Given the description of an element on the screen output the (x, y) to click on. 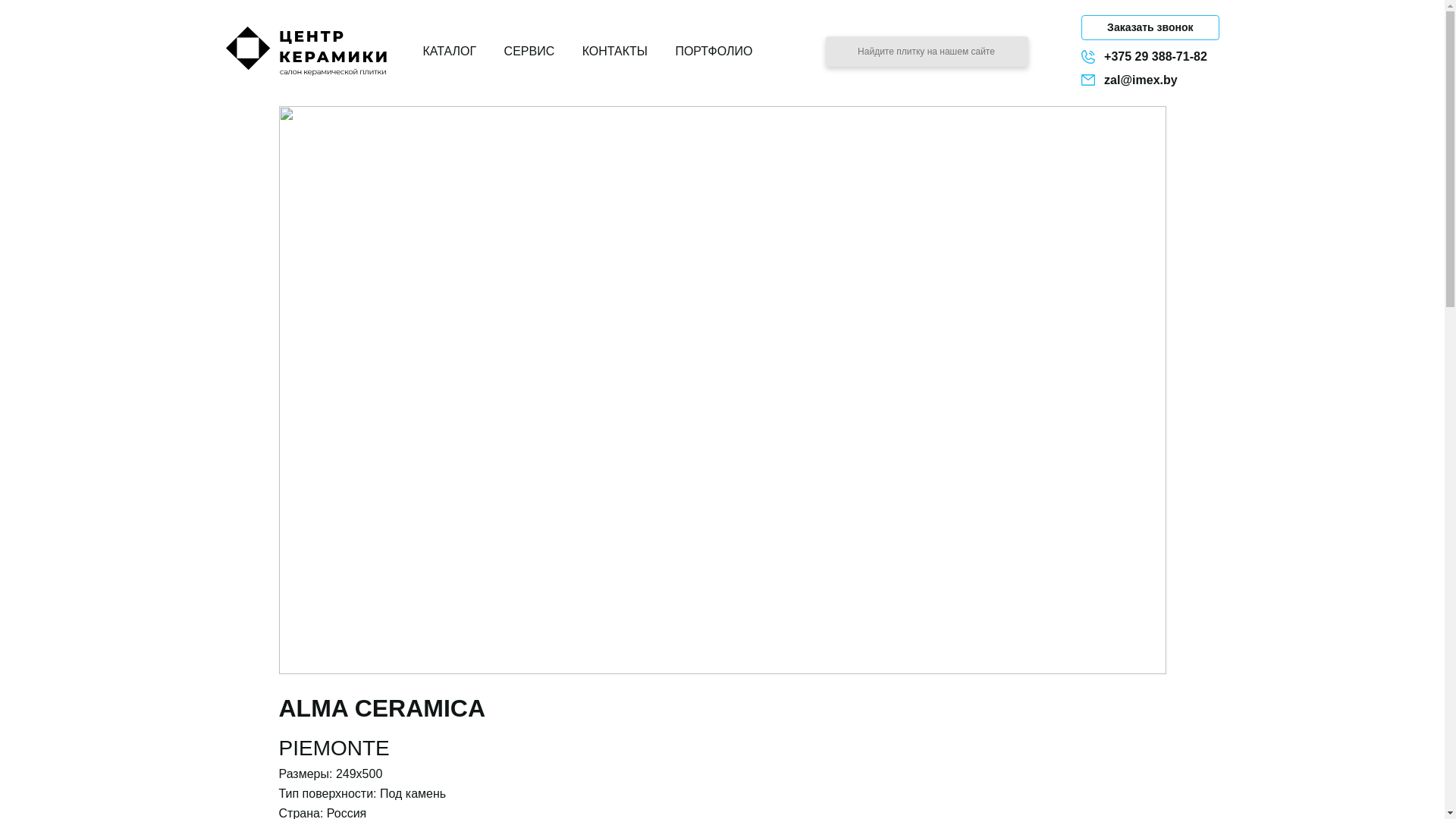
zal@imex.by Element type: text (1149, 79)
+375 29 388-71-82 Element type: text (1149, 56)
